Given the description of an element on the screen output the (x, y) to click on. 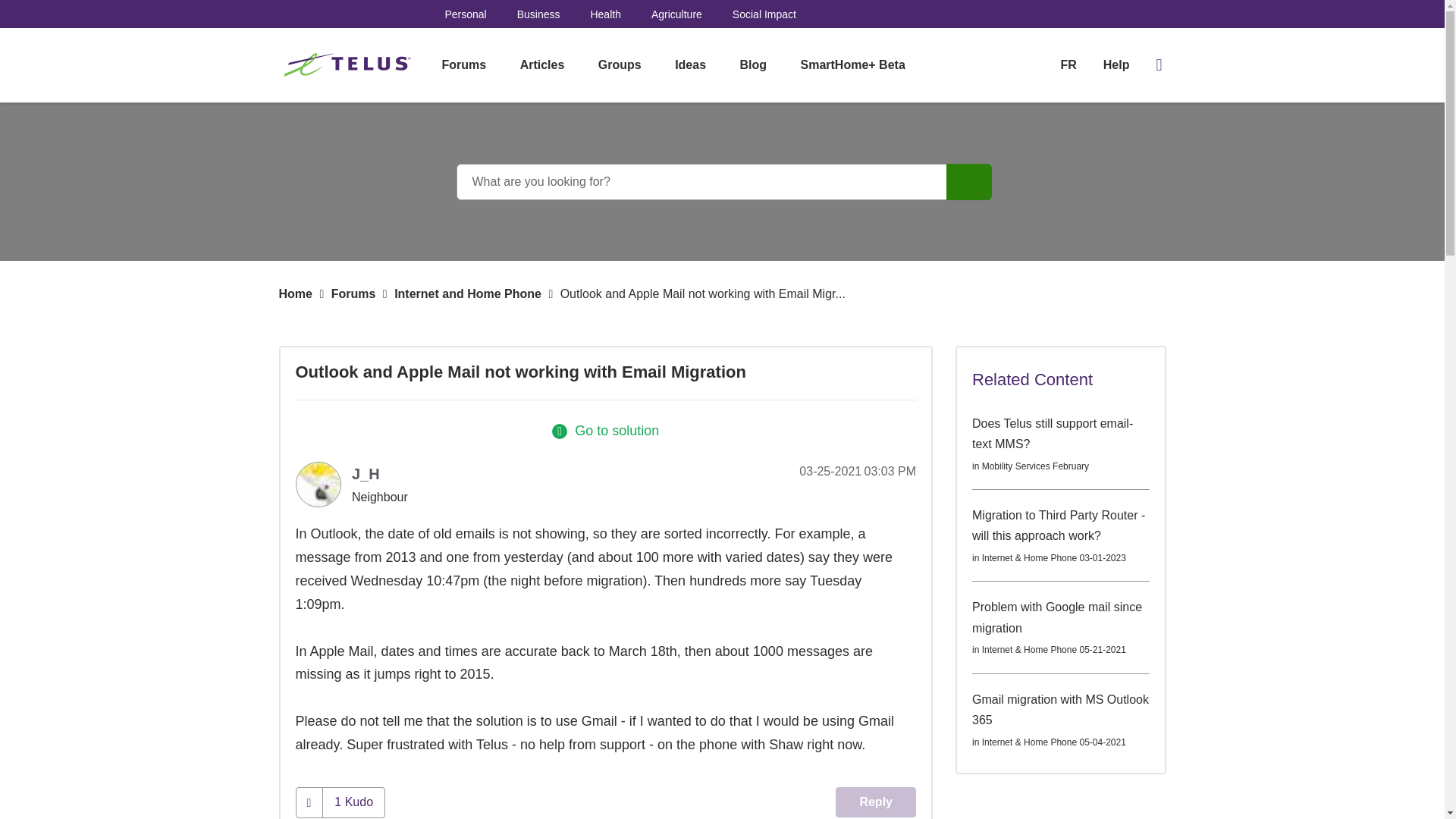
Forums (463, 64)
Health (604, 14)
Agriculture (675, 14)
Social Impact (764, 14)
Forums (353, 293)
Home (296, 293)
1 Kudo (353, 801)
Search (968, 181)
Ideas (689, 64)
Groups (619, 64)
TELUS Neighbourhood (348, 64)
Personal (465, 14)
FR (1067, 64)
Blog (754, 64)
Search (968, 181)
